Given the description of an element on the screen output the (x, y) to click on. 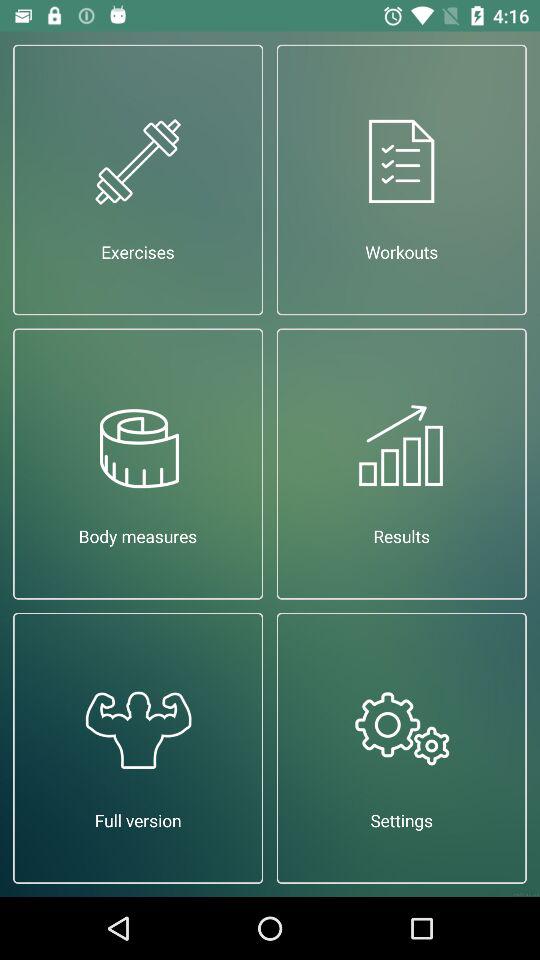
turn on the icon next to exercises (401, 179)
